Given the description of an element on the screen output the (x, y) to click on. 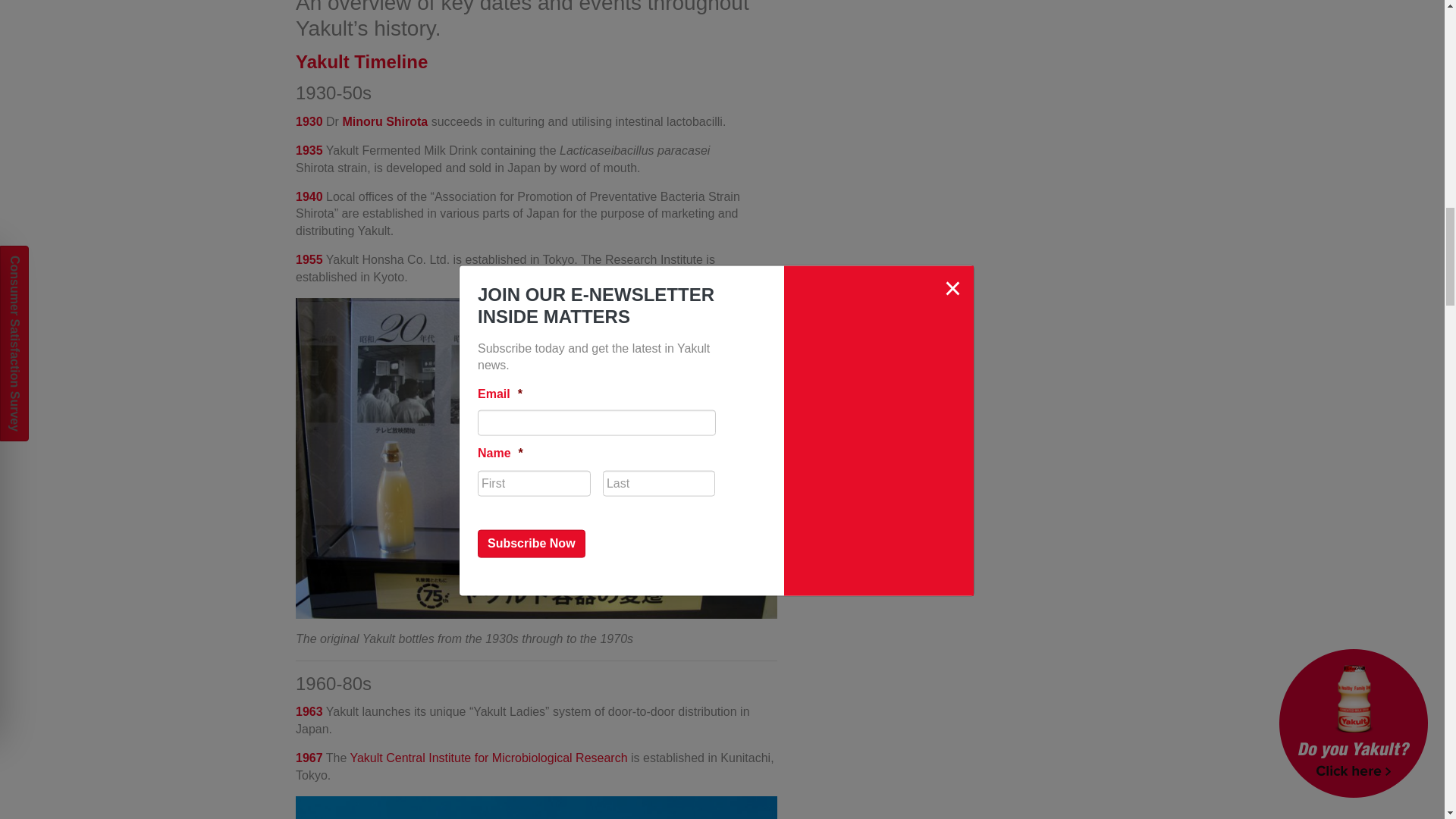
Yakult Central Institute for Microbiological Research (488, 757)
